Given the description of an element on the screen output the (x, y) to click on. 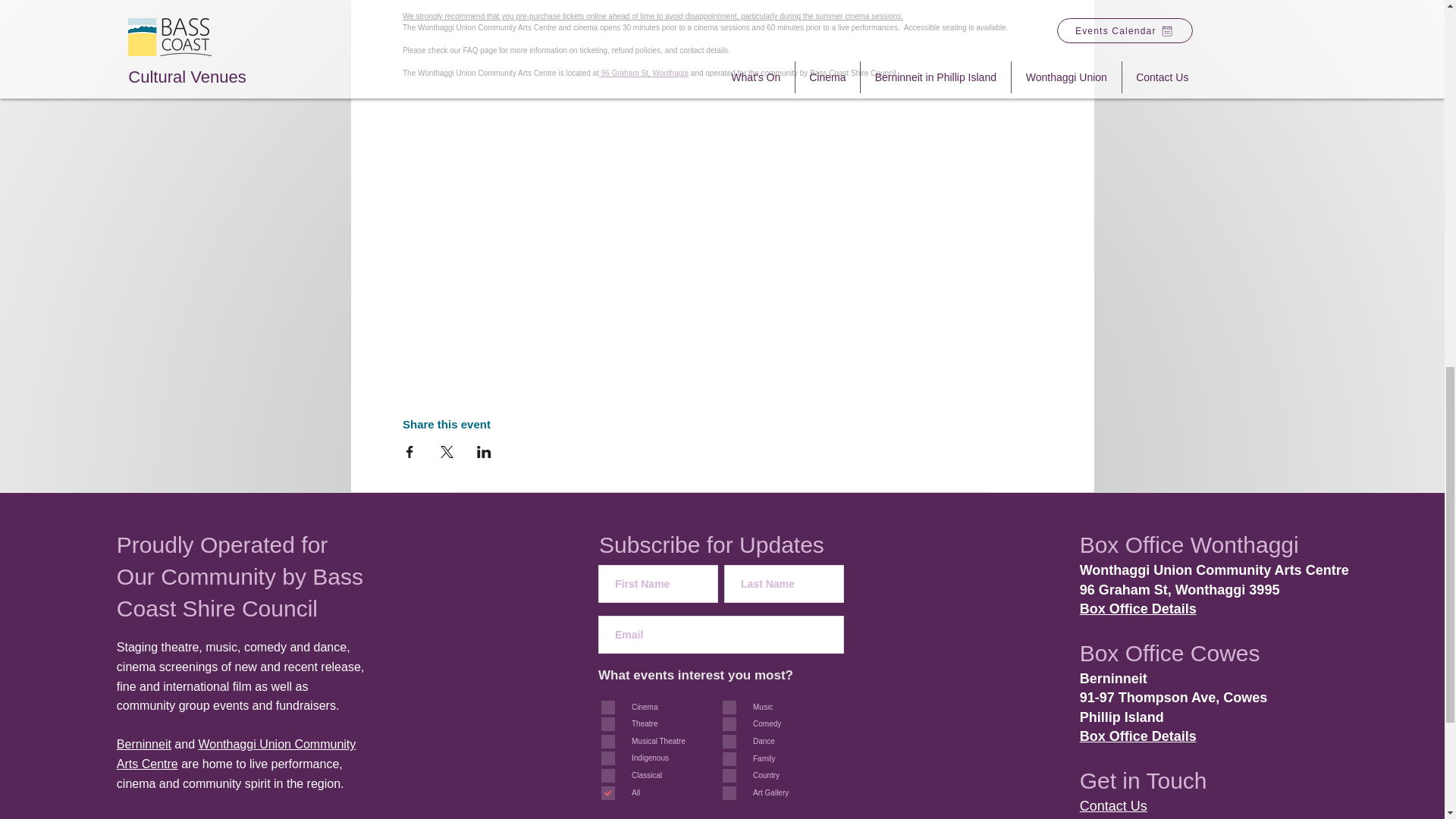
Wonthaggi Union Community Arts Centre (235, 753)
96 Graham St, Wonthaggi (643, 72)
Venue Hire (1113, 818)
Contact Us (1113, 806)
Box Office Details (1138, 735)
Box Office Details (1138, 608)
